Given the description of an element on the screen output the (x, y) to click on. 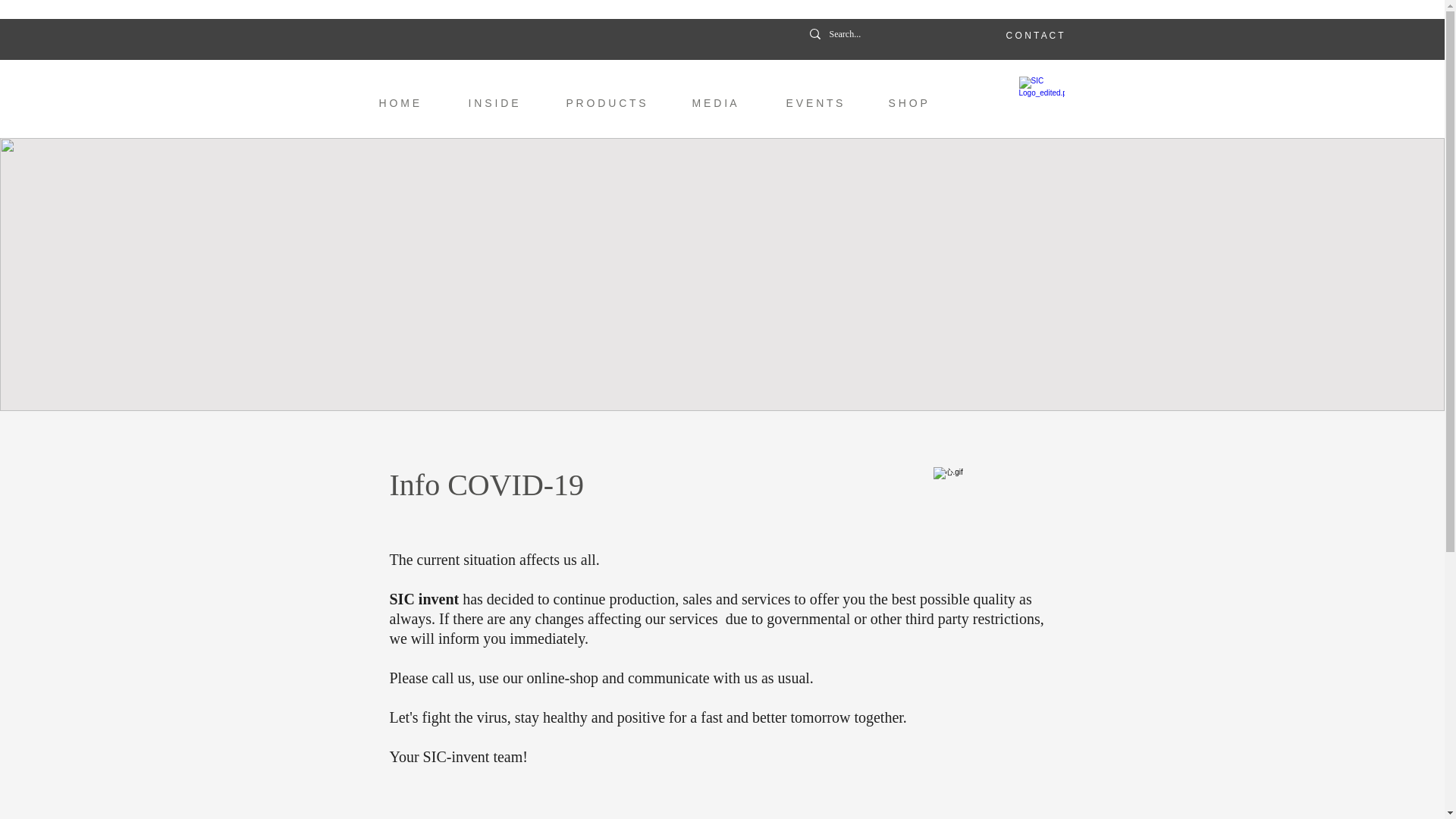
E V E N T S (825, 103)
S H O P (919, 103)
P R O D U C T S (617, 103)
I N S I D E (505, 103)
M E D I A (727, 103)
H O M E (411, 103)
C O N T A C T (1034, 35)
